Given the description of an element on the screen output the (x, y) to click on. 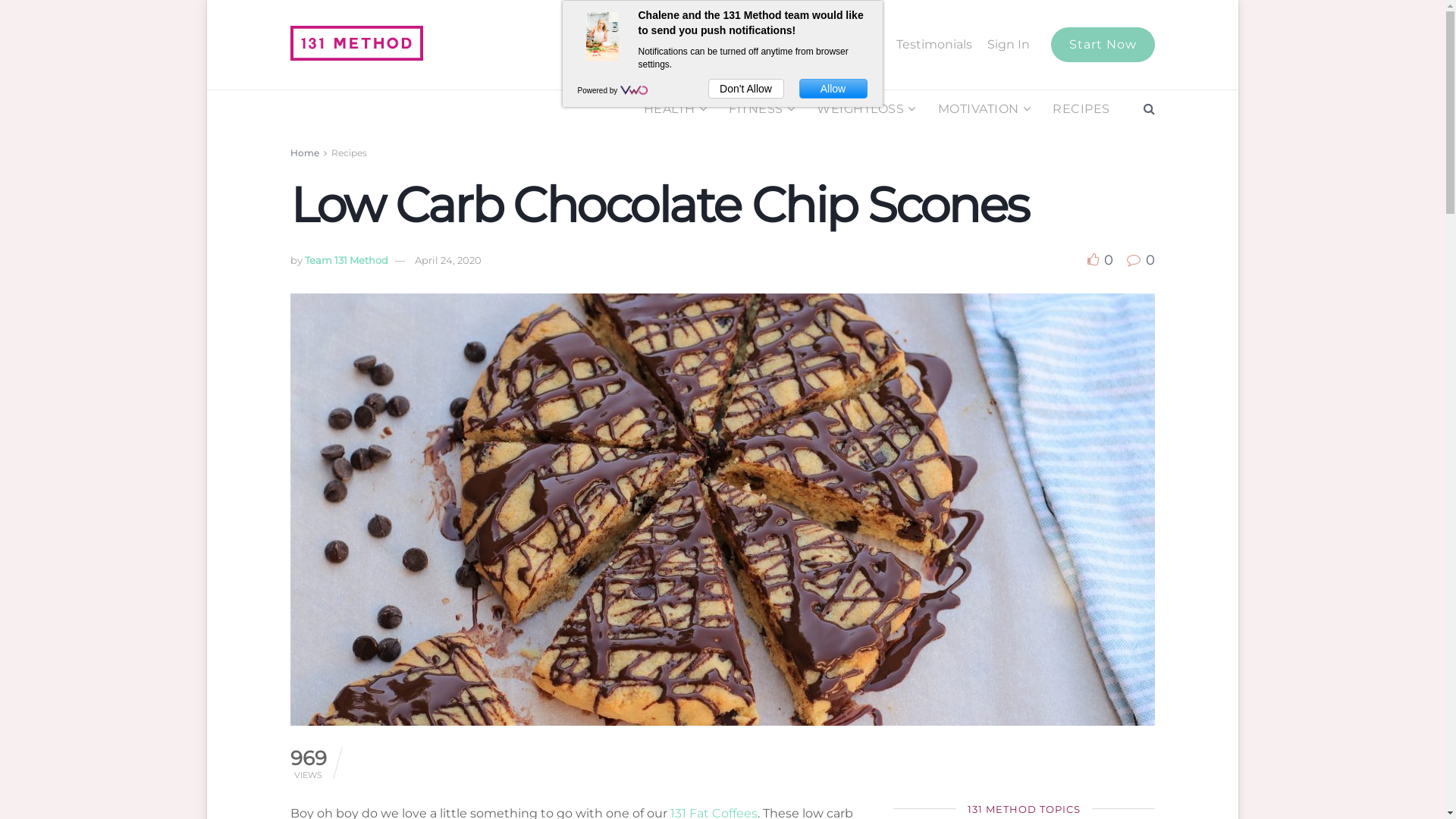
FITNESS Element type: text (760, 108)
April 24, 2020 Element type: text (447, 260)
Team 131 Method Element type: text (346, 260)
0 Element type: text (1100, 259)
Home Element type: text (685, 44)
WEIGHTLOSS Element type: text (864, 108)
Blog Element type: text (732, 44)
Allow Element type: text (833, 88)
Don't Allow Element type: text (746, 88)
About Element type: text (780, 44)
Testimonials Element type: text (934, 44)
RECIPES Element type: text (1081, 108)
0 Element type: text (1140, 259)
Contact Us Element type: text (847, 44)
Start Now Element type: text (1102, 44)
Powered by Element type: text (598, 90)
MOTIVATION Element type: text (982, 108)
HEALTH Element type: text (673, 108)
Recipes Element type: text (348, 152)
Sign In Element type: text (1008, 44)
Home Element type: text (303, 152)
